Given the description of an element on the screen output the (x, y) to click on. 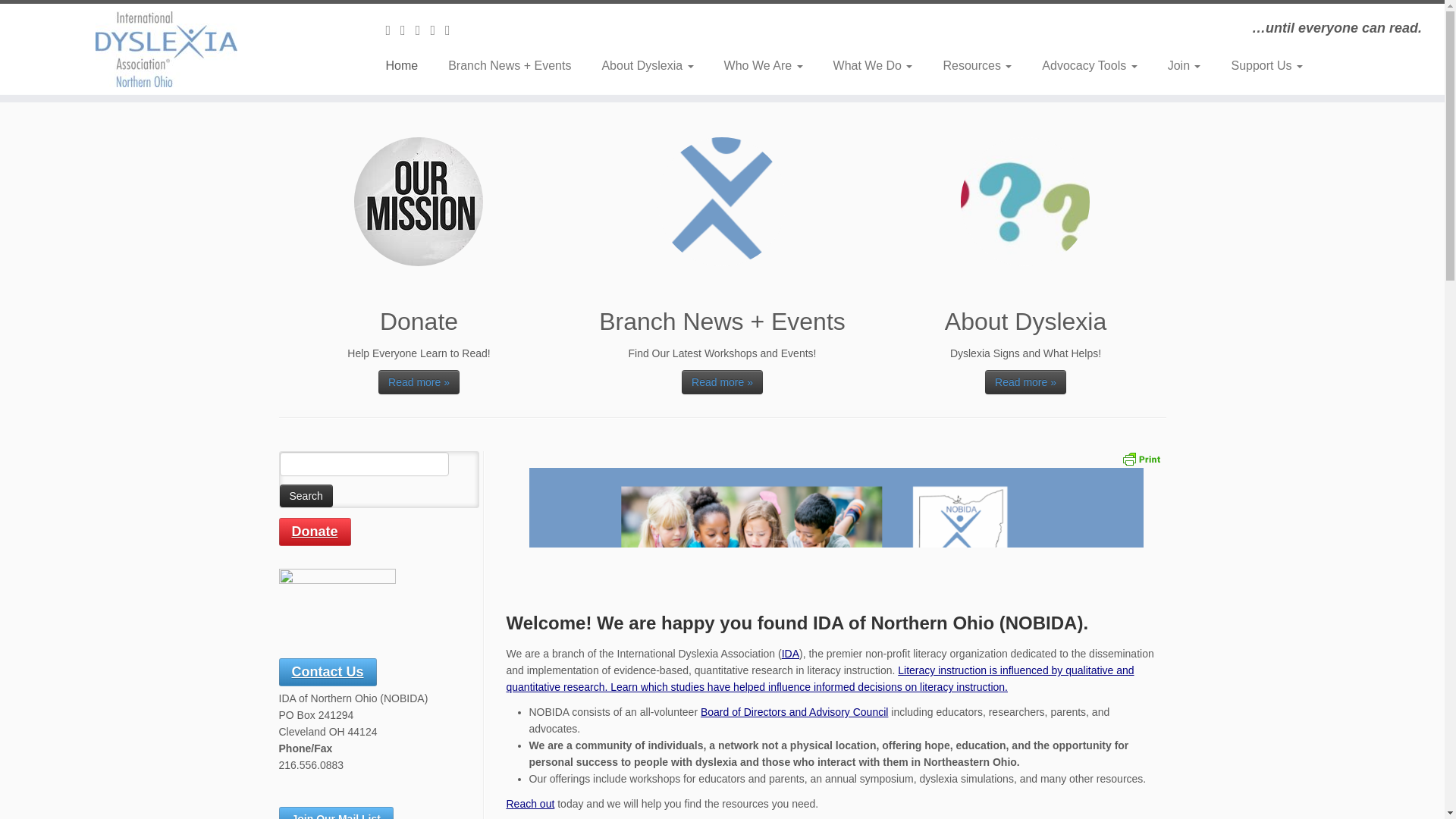
Follow me on Youtube (437, 29)
Resources (976, 65)
About Dyslexia (646, 65)
Follow me on LinkedIn (452, 29)
Follow us on Twitter (392, 29)
Search (305, 495)
Follow us on Instagram (422, 29)
What We Do (873, 65)
Follow us on Facebook (407, 29)
Who We Are (763, 65)
Home (406, 65)
